Given the description of an element on the screen output the (x, y) to click on. 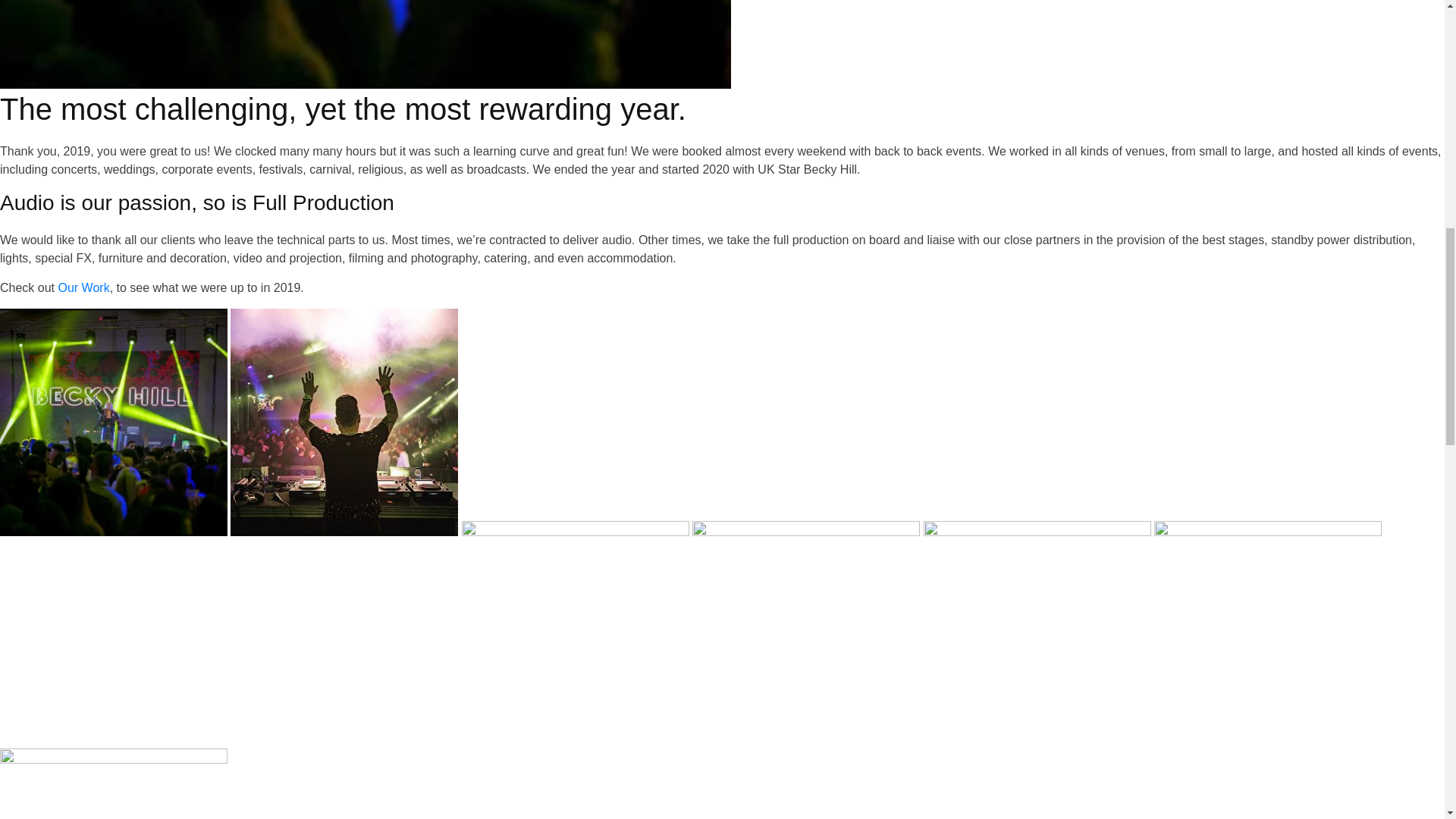
Our Work (83, 287)
